Given the description of an element on the screen output the (x, y) to click on. 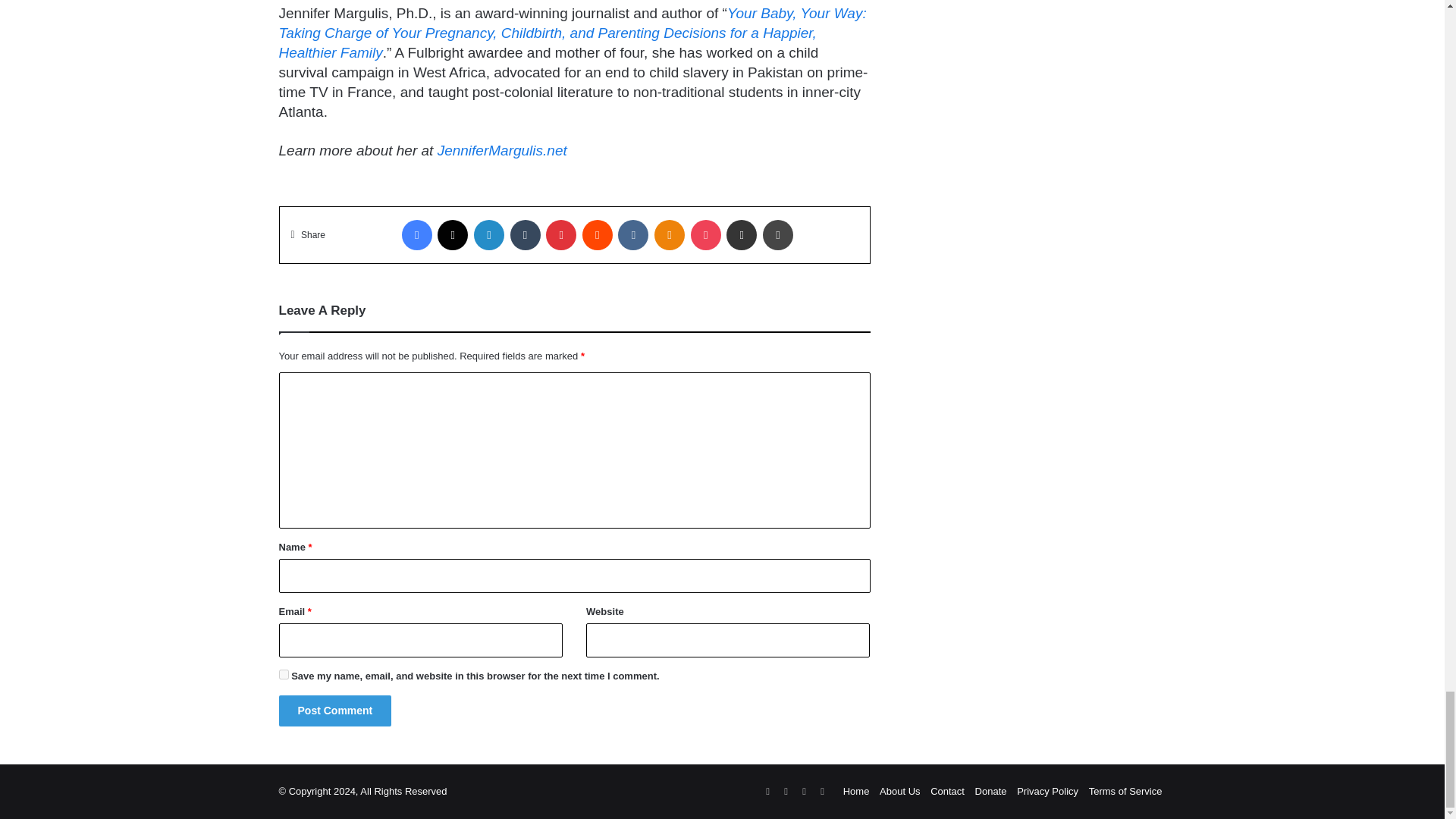
X (452, 235)
Post Comment (335, 710)
Tumblr (524, 235)
yes (283, 674)
Pinterest (561, 235)
Facebook (416, 235)
LinkedIn (488, 235)
